Given the description of an element on the screen output the (x, y) to click on. 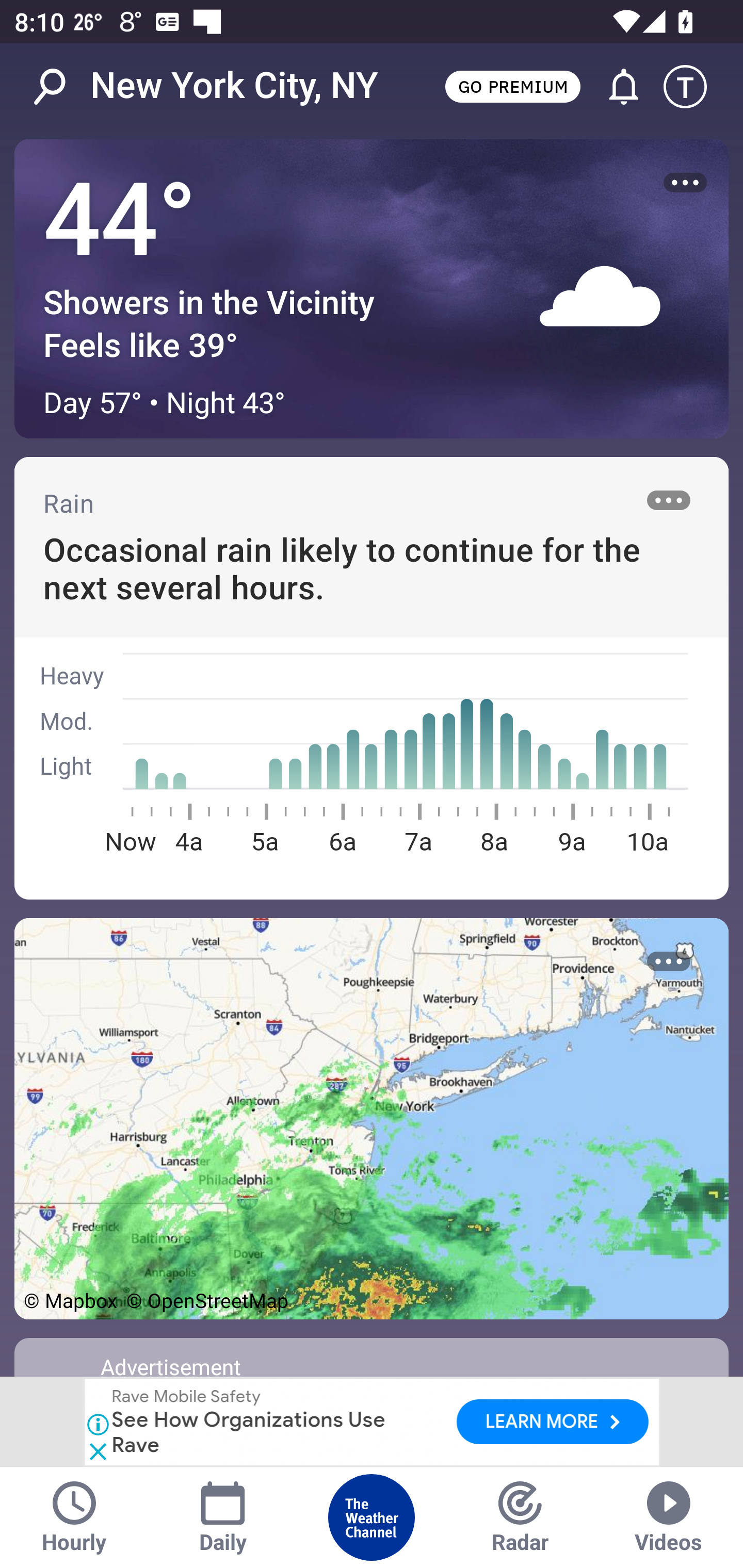
Search (59, 86)
Go to Alerts and Notifications (614, 86)
Setting icon T (694, 86)
New York City, NY (234, 85)
GO PREMIUM (512, 85)
More options (684, 182)
More options (668, 500)
See Map Details (371, 1118)
More options (668, 961)
Rave Mobile Safety (185, 1397)
LEARN MORE (551, 1421)
Hourly Tab Hourly (74, 1517)
Daily Tab Daily (222, 1517)
Radar Tab Radar (519, 1517)
Videos Tab Videos (668, 1517)
